Given the description of an element on the screen output the (x, y) to click on. 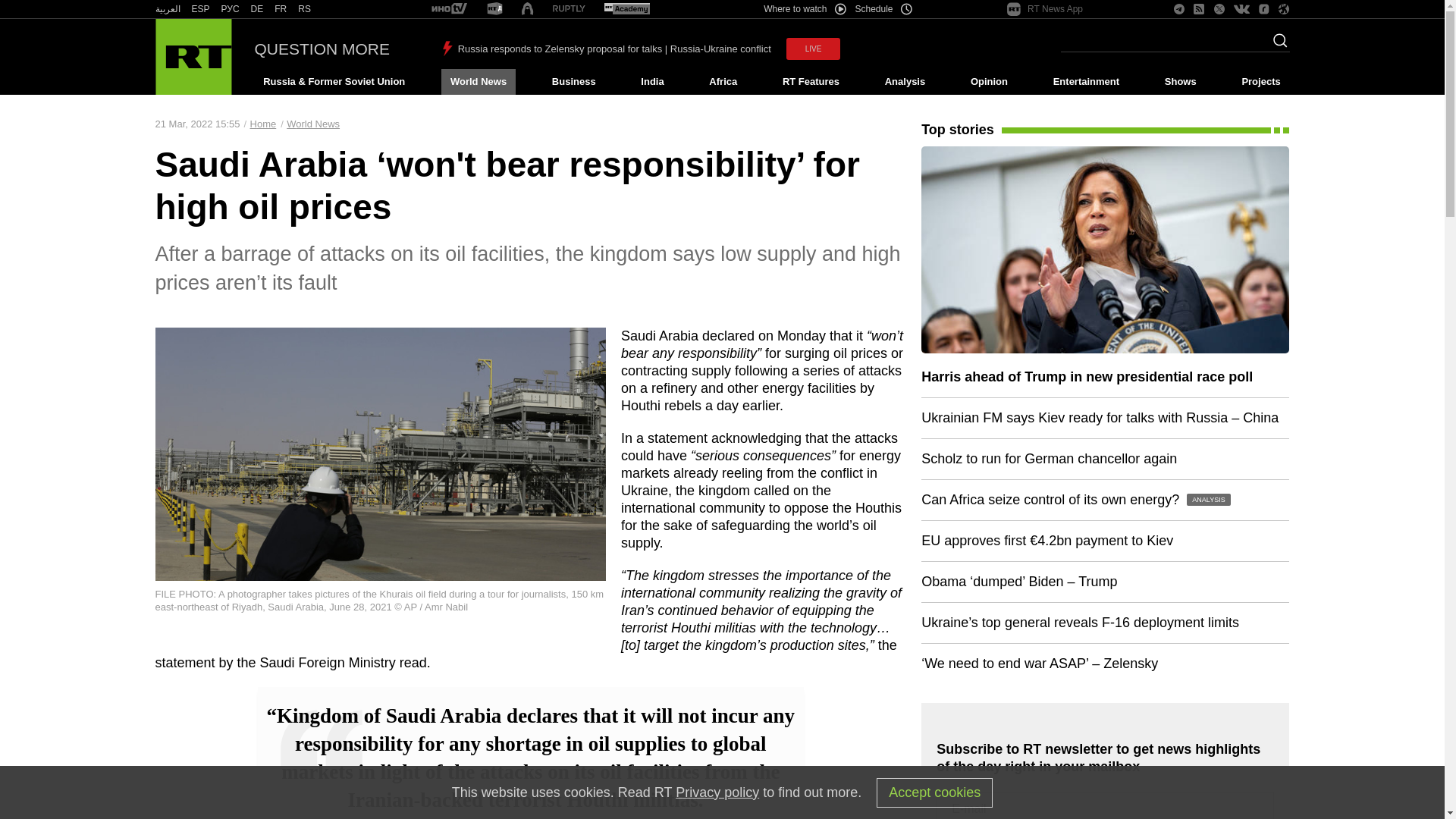
Business (573, 81)
Entertainment (1085, 81)
RT  (626, 9)
RT  (494, 9)
Africa (722, 81)
Shows (1180, 81)
Search (1276, 44)
Schedule (884, 9)
RT  (230, 9)
RT News App (1045, 9)
RT  (569, 8)
Projects (1261, 81)
Where to watch (803, 9)
RT  (256, 9)
RT  (166, 9)
